Given the description of an element on the screen output the (x, y) to click on. 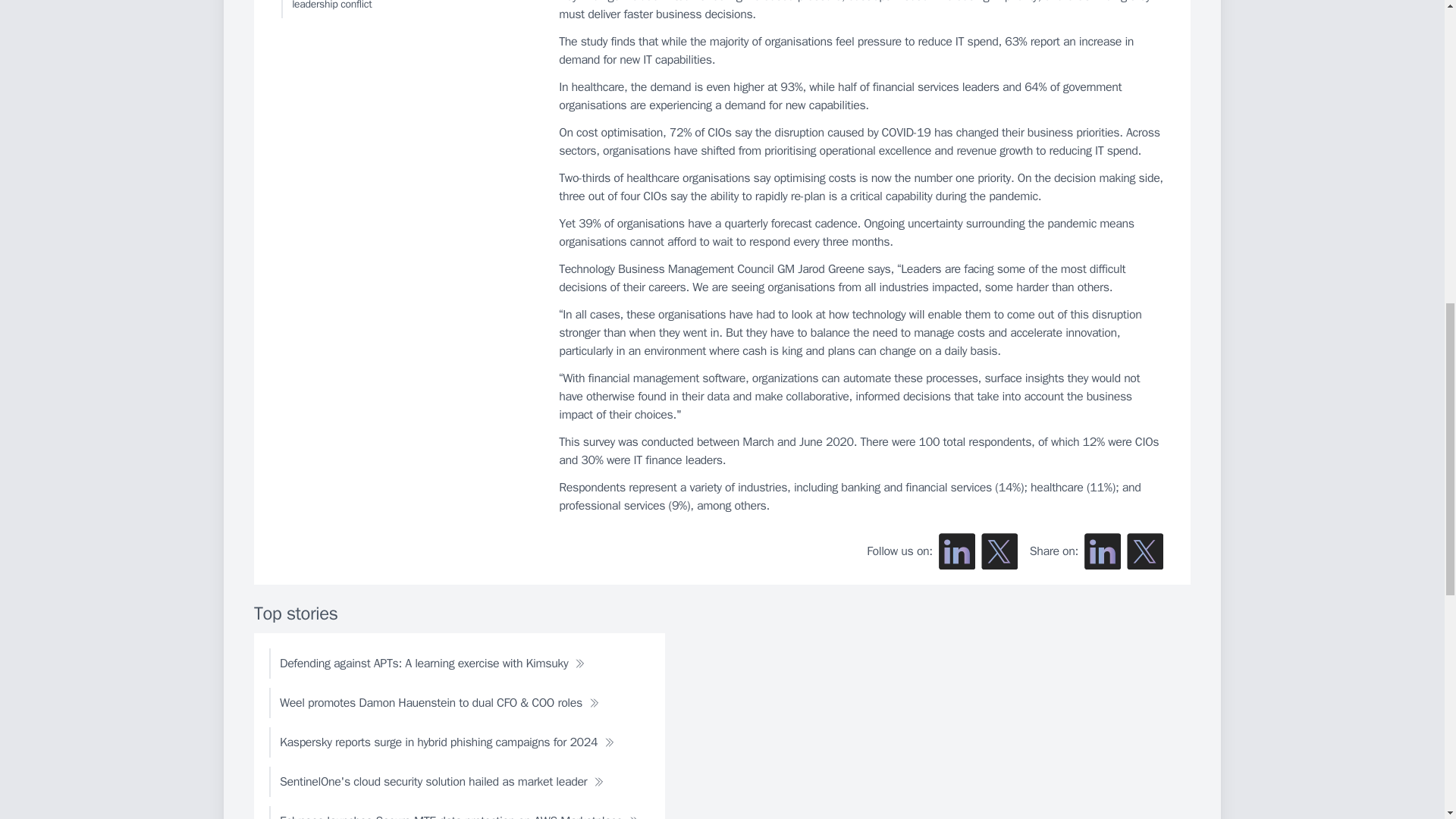
Defending against APTs: A learning exercise with Kimsuky (432, 663)
